Given the description of an element on the screen output the (x, y) to click on. 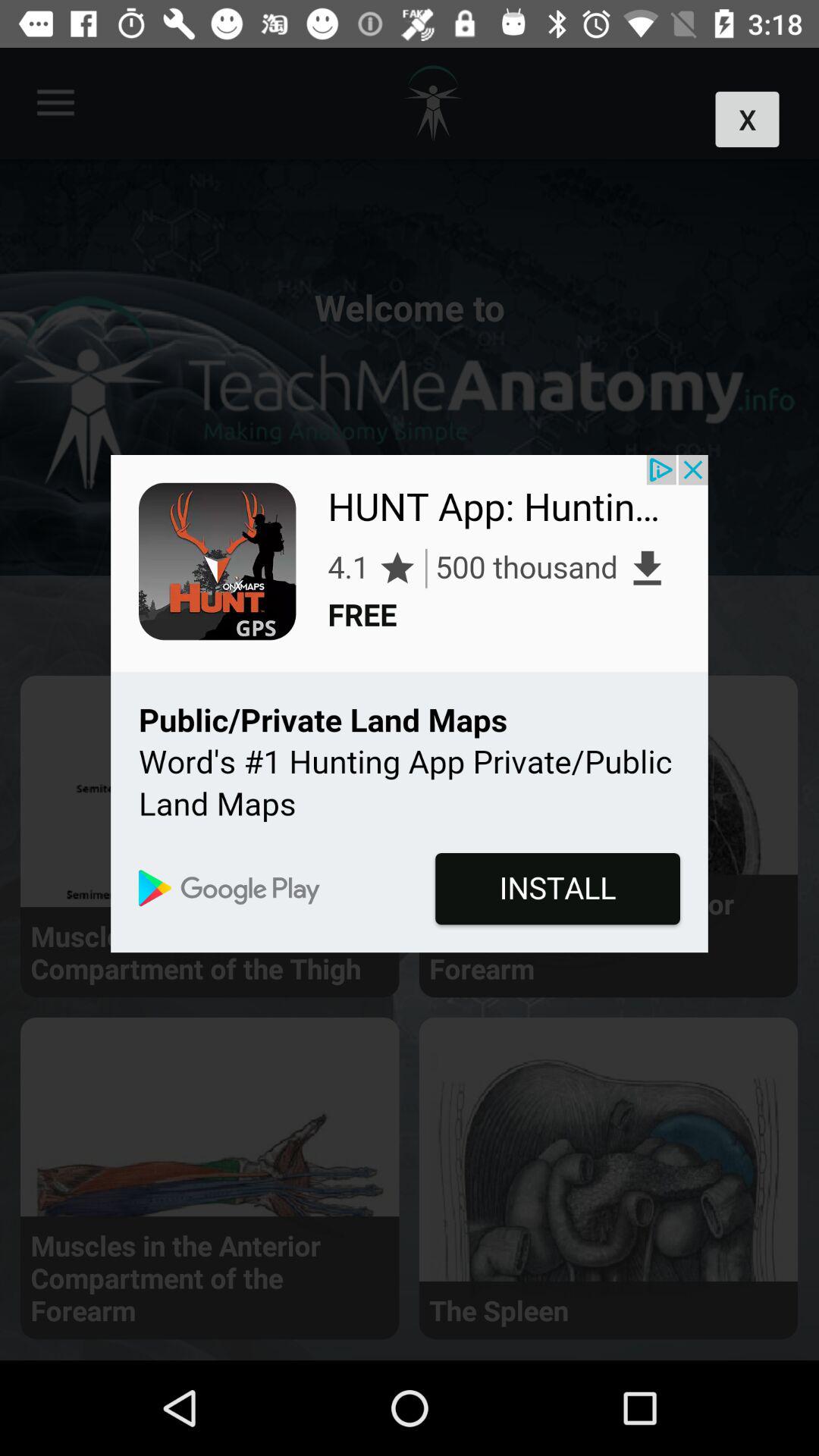
hunt app advertisement pop-up (409, 703)
